Given the description of an element on the screen output the (x, y) to click on. 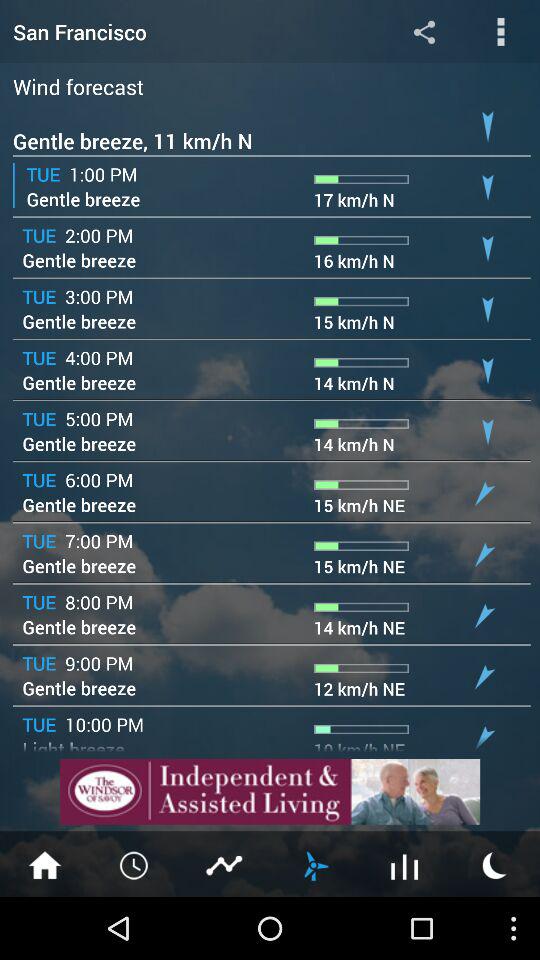
open options (500, 31)
